Given the description of an element on the screen output the (x, y) to click on. 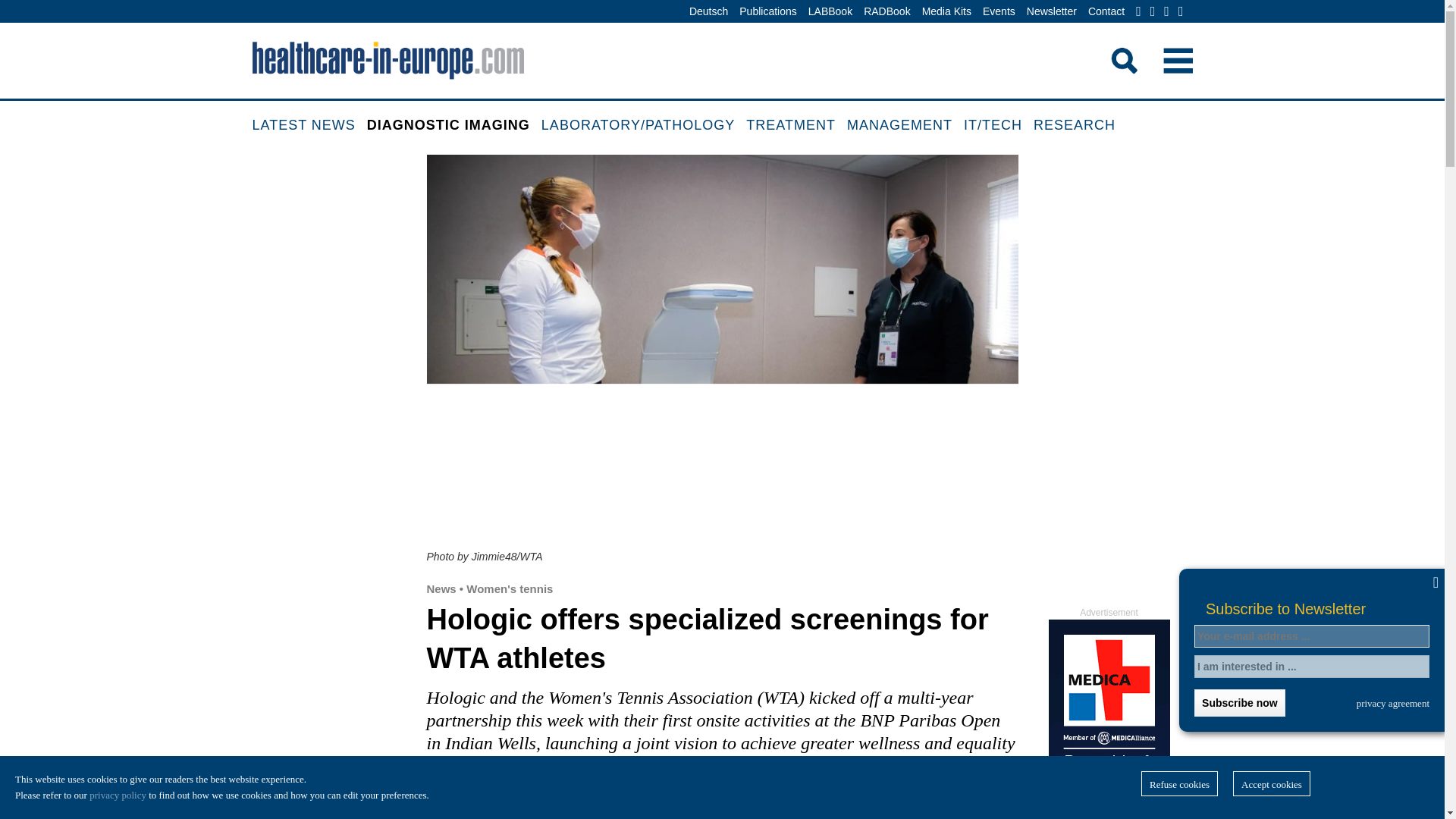
RESEARCH (1079, 126)
TREATMENT (796, 126)
DIAGNOSTIC IMAGING (453, 126)
Deutsch (708, 12)
LATEST NEWS (308, 126)
Events (998, 12)
MANAGEMENT (905, 126)
Media Kits (946, 12)
RADBook (887, 12)
Contact (1106, 12)
